Given the description of an element on the screen output the (x, y) to click on. 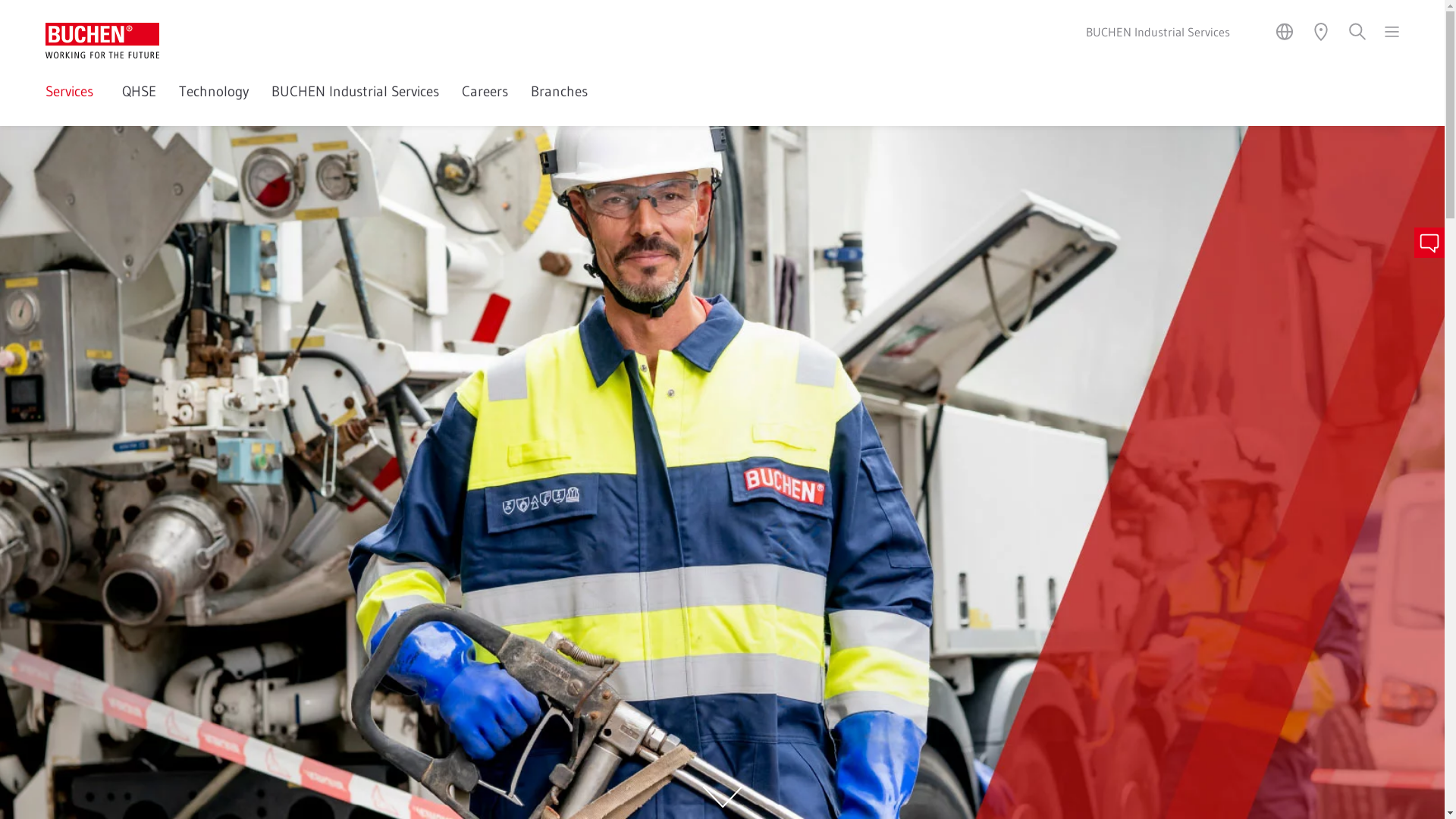
Careers Element type: text (484, 103)
QHSE Element type: text (139, 103)
Services  Element type: text (72, 103)
BUCHEN Industrial Services Element type: text (355, 103)
Branches Element type: text (558, 103)
Technology Element type: text (213, 103)
